Given the description of an element on the screen output the (x, y) to click on. 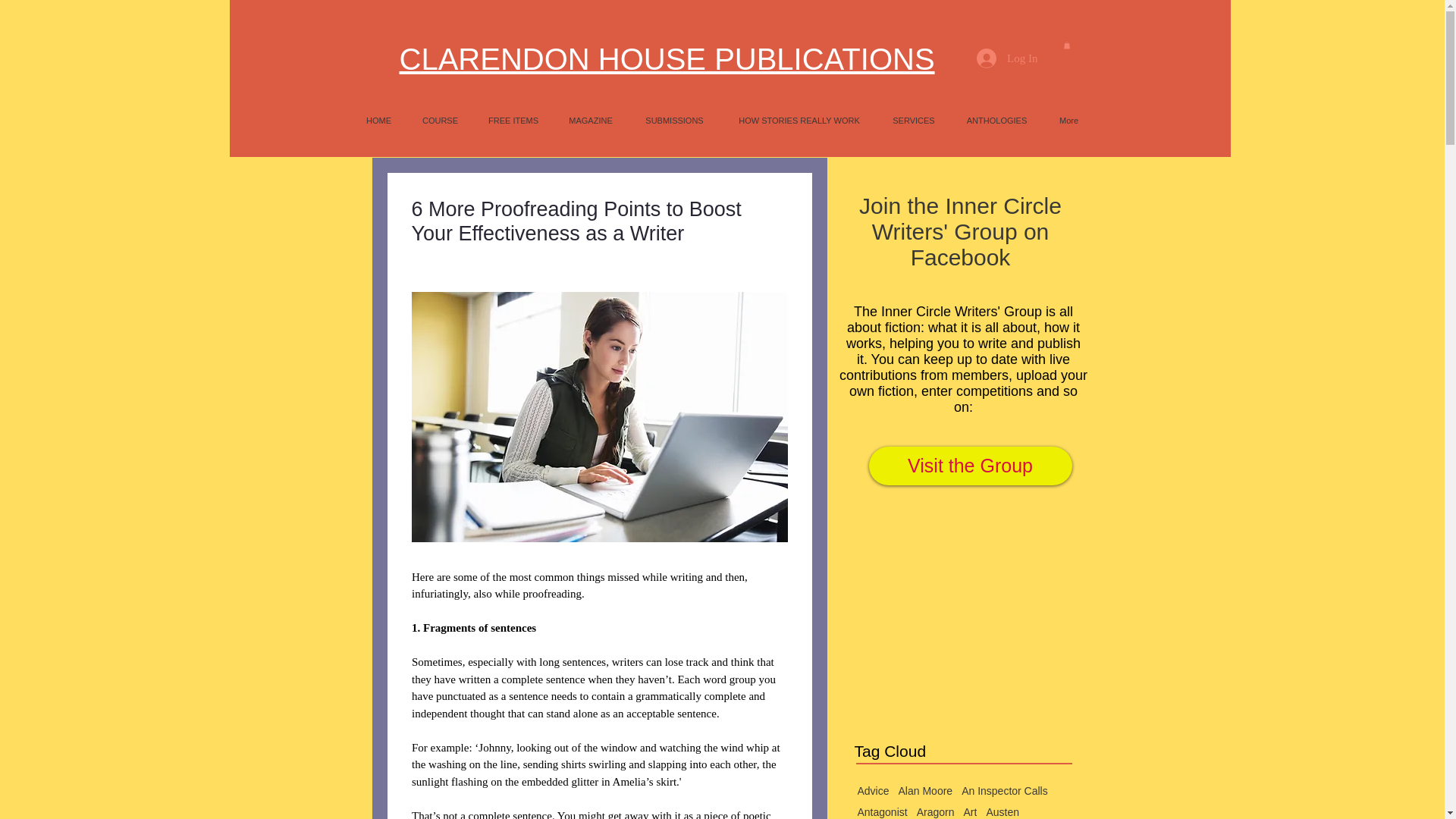
SUBMISSIONS (673, 120)
MAGAZINE (590, 120)
ANTHOLOGIES (996, 120)
COURSE (439, 120)
SERVICES (913, 120)
HOME (378, 120)
FREE ITEMS (513, 120)
CLARENDON HOUSE PUBLICATIONS (666, 59)
HOW STORIES REALLY WORK (798, 120)
